Given the description of an element on the screen output the (x, y) to click on. 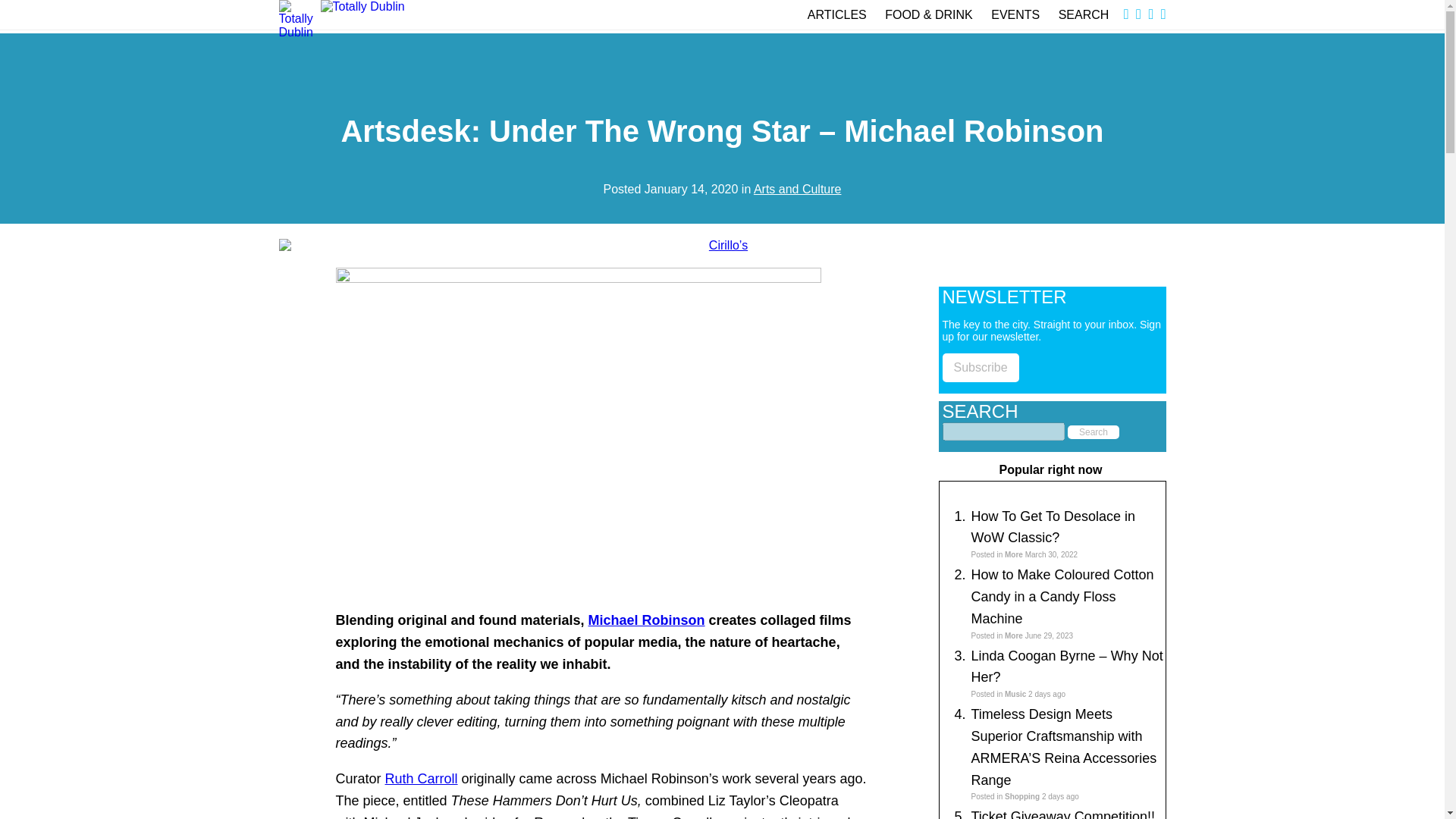
Ruth Carroll (421, 778)
Michael Robinson (646, 620)
Search (1093, 431)
Search (1093, 431)
SEARCH (1083, 14)
Arts and Culture (797, 188)
Subscribe (979, 367)
Subscribe (979, 367)
How to Make Coloured Cotton Candy in a Candy Floss Machine (1062, 596)
How To Get To Desolace in WoW Classic? (1052, 527)
